Given the description of an element on the screen output the (x, y) to click on. 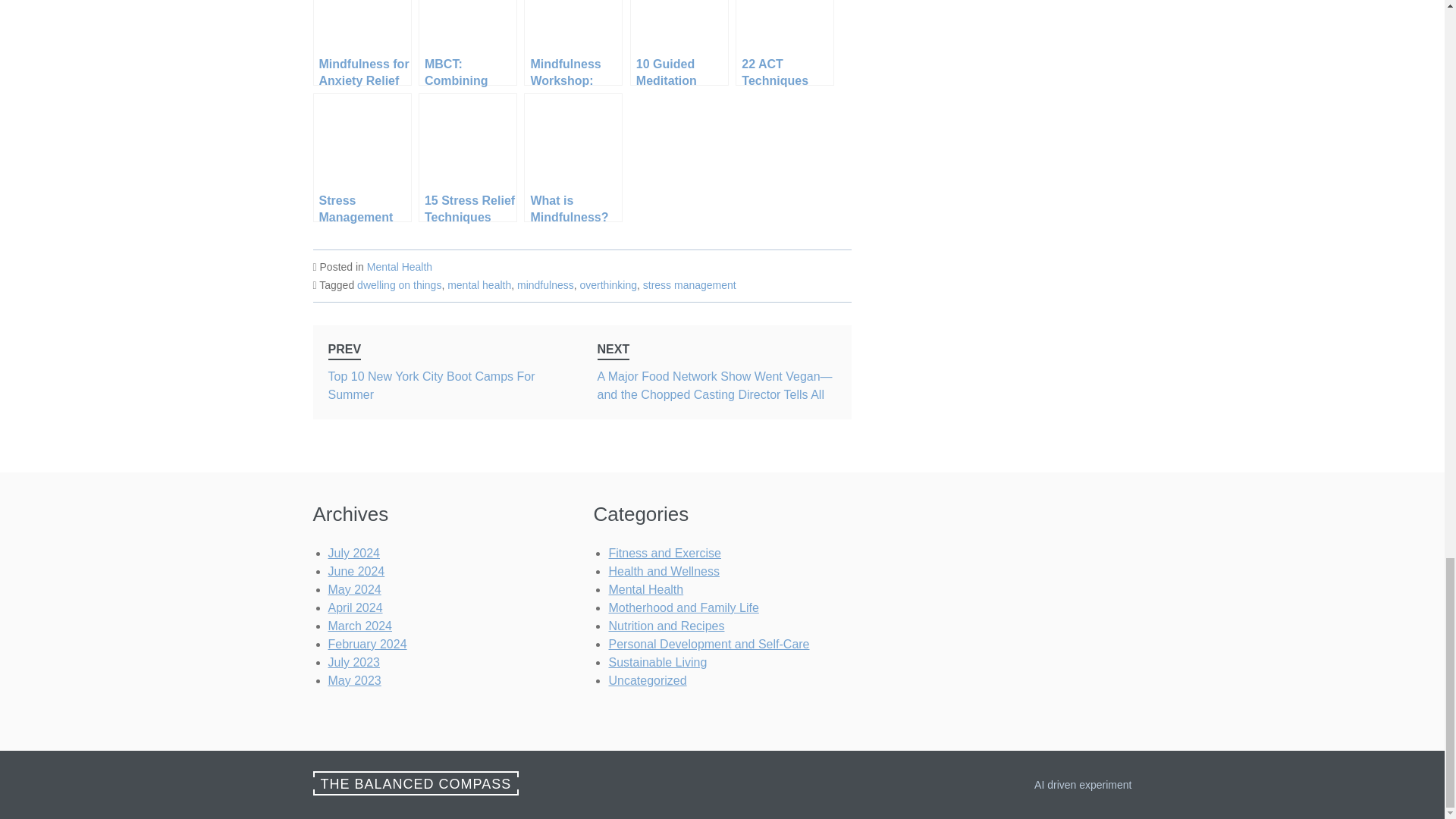
mental health (478, 285)
mindfulness (544, 285)
10 Guided Meditation Scripts for Groups (679, 42)
Mindfulness for Anxiety Relief and Stress Reduction (361, 42)
MBCT: Combining Mindfulness and Cognitive Behavior Therapy (467, 42)
Mental Health (399, 266)
10 Guided Meditation Scripts for Groups (679, 42)
Mindfulness Workshop: Getting Started with Mindfulness (573, 42)
stress management (689, 285)
22 ACT Techniques and Tools (784, 42)
Mindfulness Workshop: Getting Started with Mindfulness (573, 42)
22 ACT Techniques and Tools (446, 372)
MBCT: Combining Mindfulness and Cognitive Behavior Therapy (784, 42)
overthinking (467, 42)
